Given the description of an element on the screen output the (x, y) to click on. 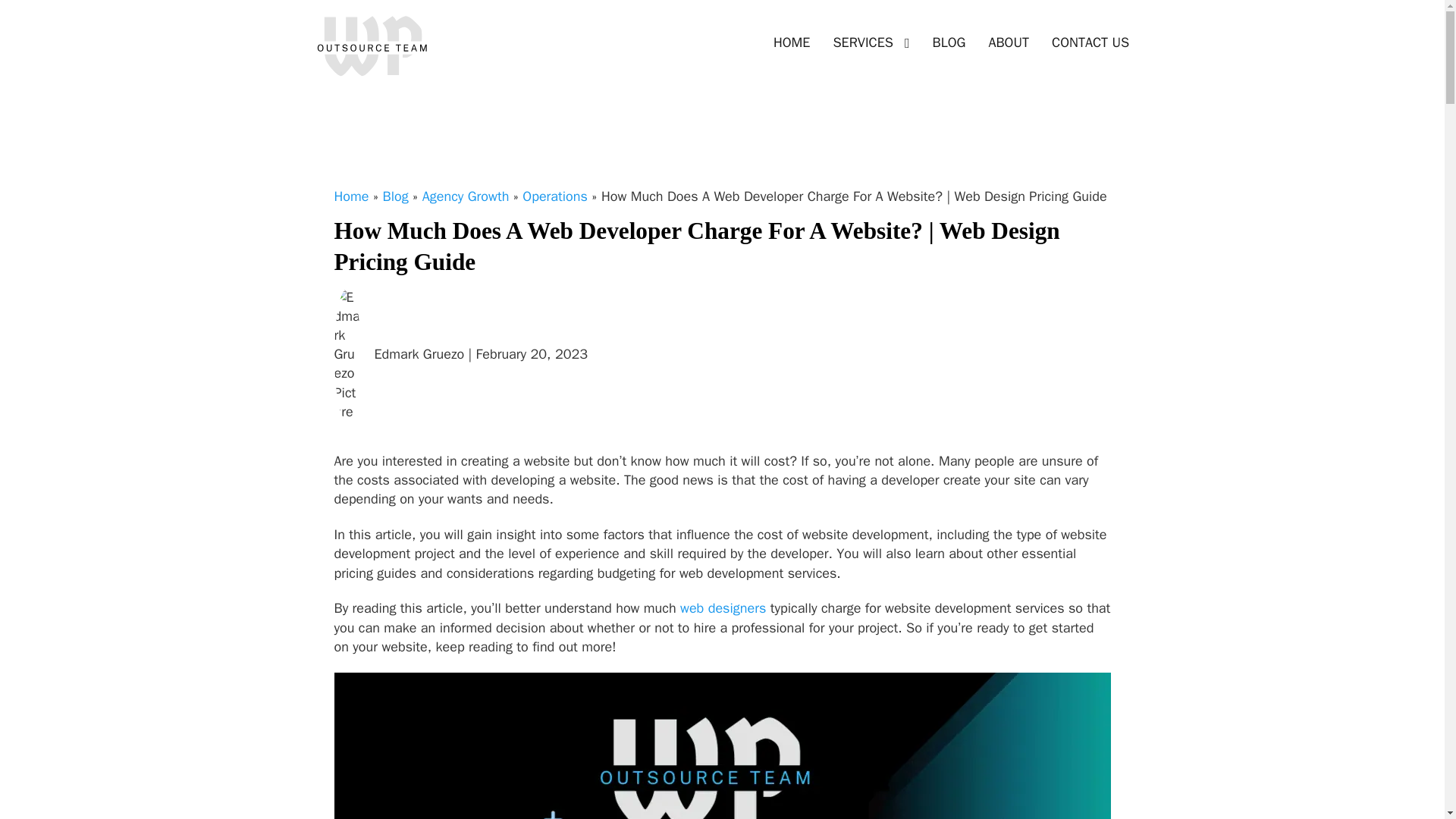
ABOUT (1008, 42)
Agency Growth (465, 196)
Blog (395, 196)
Home (350, 196)
Operations (555, 196)
CONTACT US (1090, 42)
web designers (722, 607)
HOME (791, 42)
SERVICES (862, 42)
BLOG (949, 42)
